Given the description of an element on the screen output the (x, y) to click on. 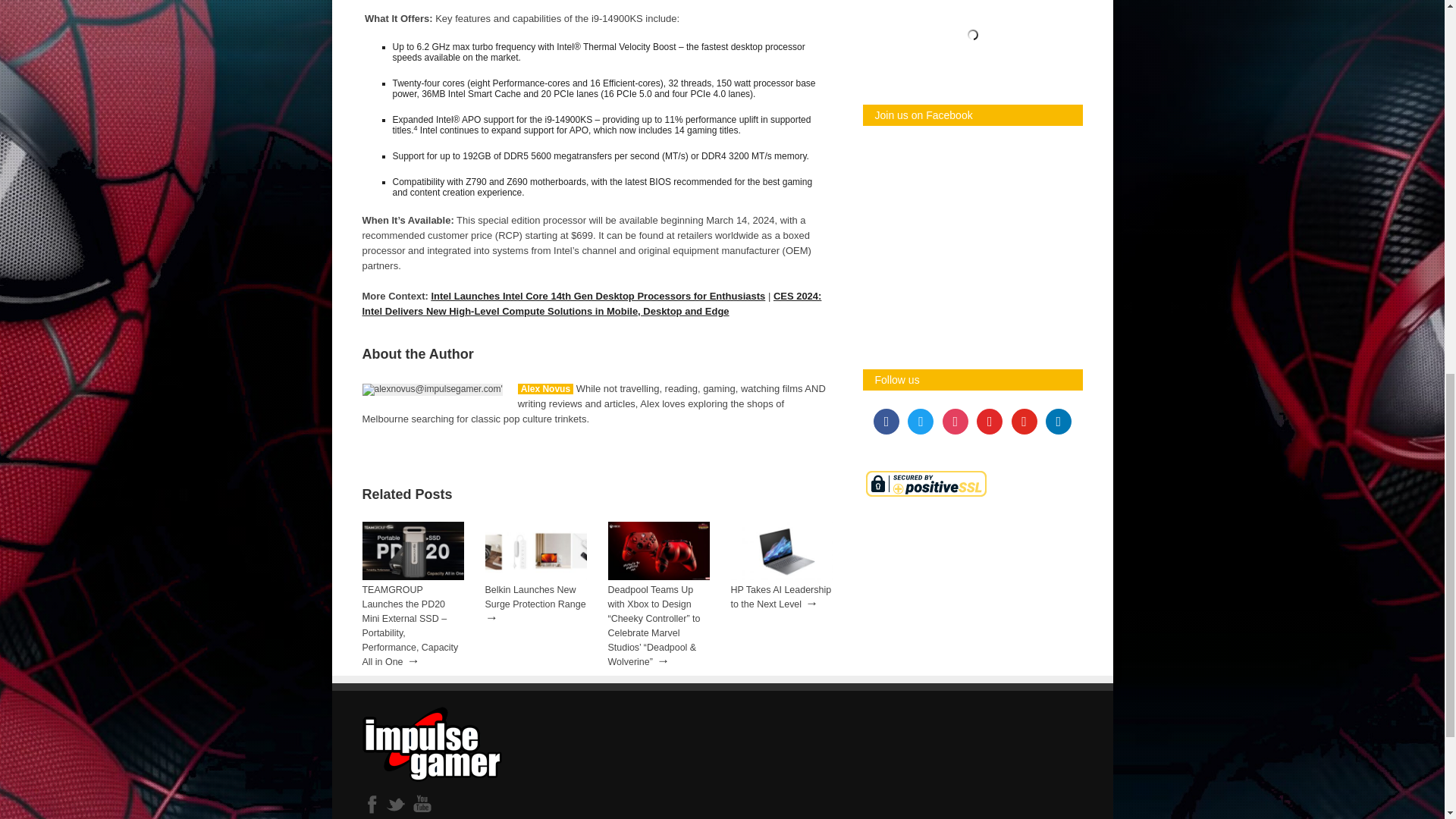
HP Takes AI Leadership to the Next Level (781, 576)
Belkin Launches New Surge Protection Range (535, 596)
HP Takes AI Leadership to the Next Level (780, 596)
Belkin Launches New Surge Protection Range (535, 576)
Posts by Alex Novus (545, 388)
